Given the description of an element on the screen output the (x, y) to click on. 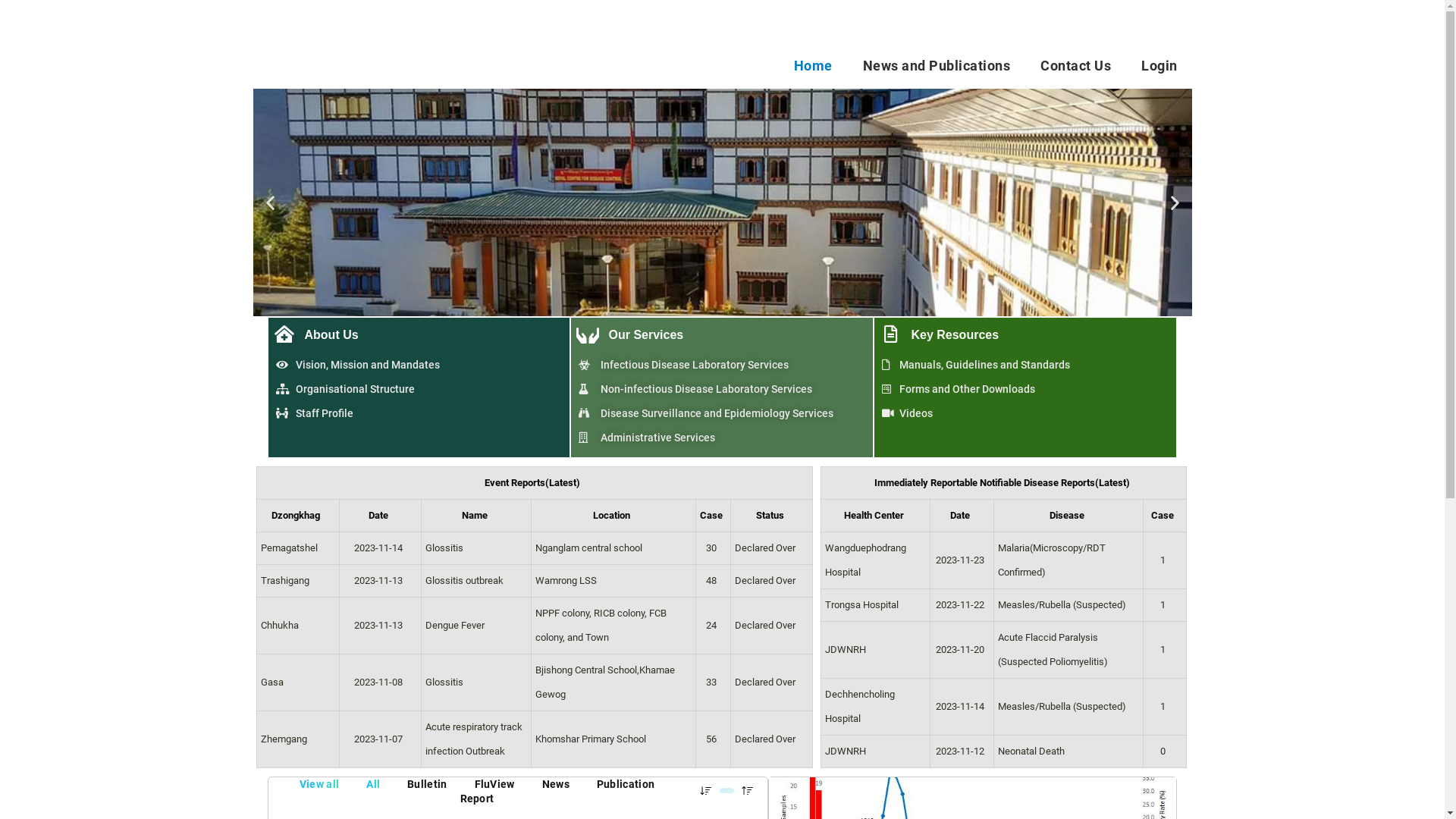
News and Publications Element type: text (936, 65)
Staff Profile Element type: text (419, 413)
Vision, Mission and Mandates Element type: text (419, 364)
Non-infectious Disease Laboratory Services Element type: text (721, 388)
Forms and Other Downloads Element type: text (1024, 388)
FluView Element type: text (494, 784)
Manuals, Guidelines and Standards Element type: text (1024, 364)
Report Element type: text (476, 798)
Publication Element type: text (625, 784)
News Element type: text (555, 784)
Videos Element type: text (1024, 413)
Contact Us Element type: text (1075, 65)
Login Element type: text (1159, 65)
View all Element type: text (319, 784)
Disease Surveillance and Epidemiology Services Element type: text (721, 413)
All Element type: text (372, 784)
Home Element type: text (812, 65)
Organisational Structure Element type: text (419, 388)
Infectious Disease Laboratory Services Element type: text (721, 364)
Bulletin Element type: text (426, 784)
